Given the description of an element on the screen output the (x, y) to click on. 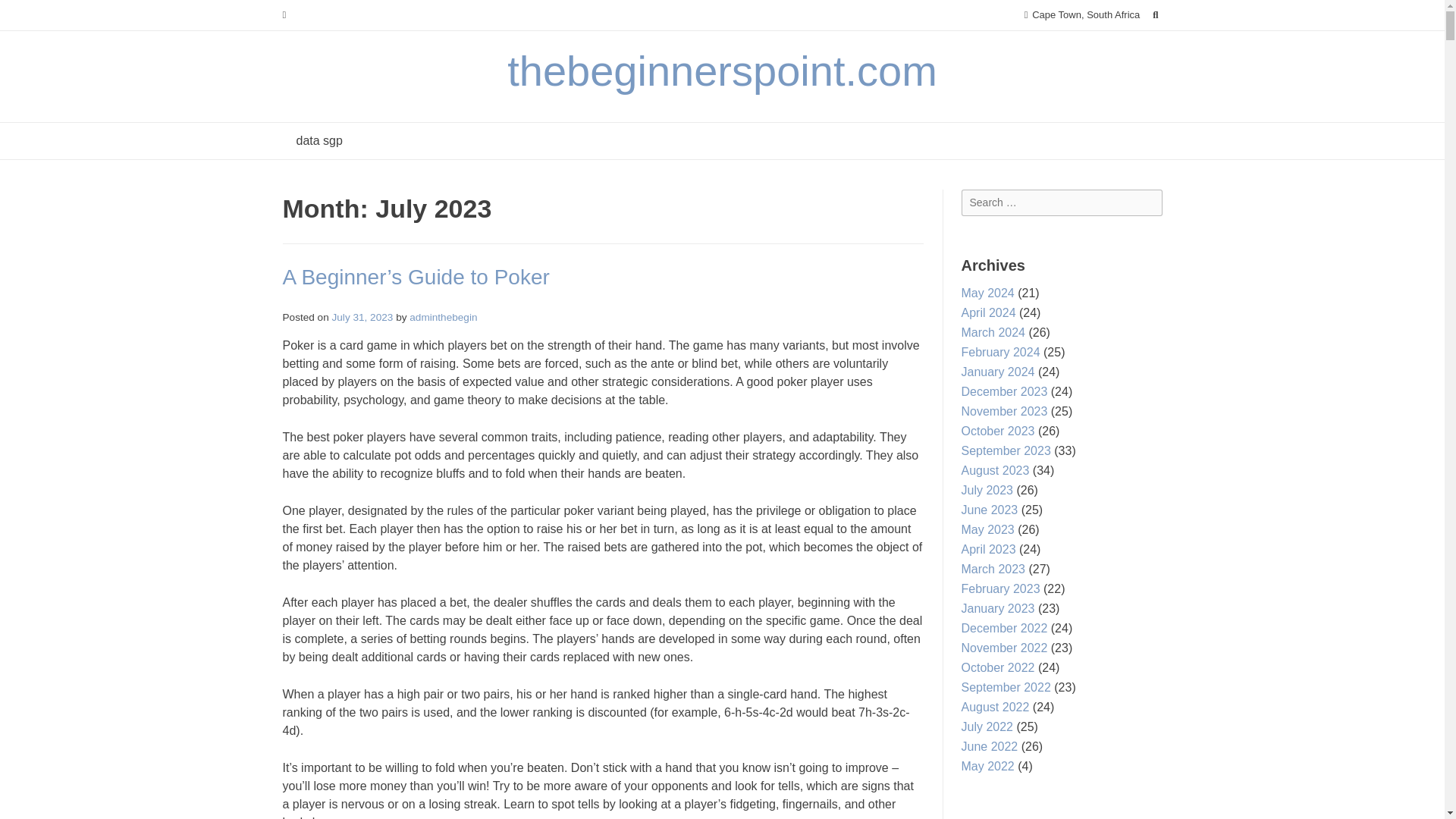
adminthebegin (443, 317)
data sgp (318, 140)
July 31, 2023 (362, 317)
Search (27, 13)
thebeginnerspoint.com (721, 70)
